Given the description of an element on the screen output the (x, y) to click on. 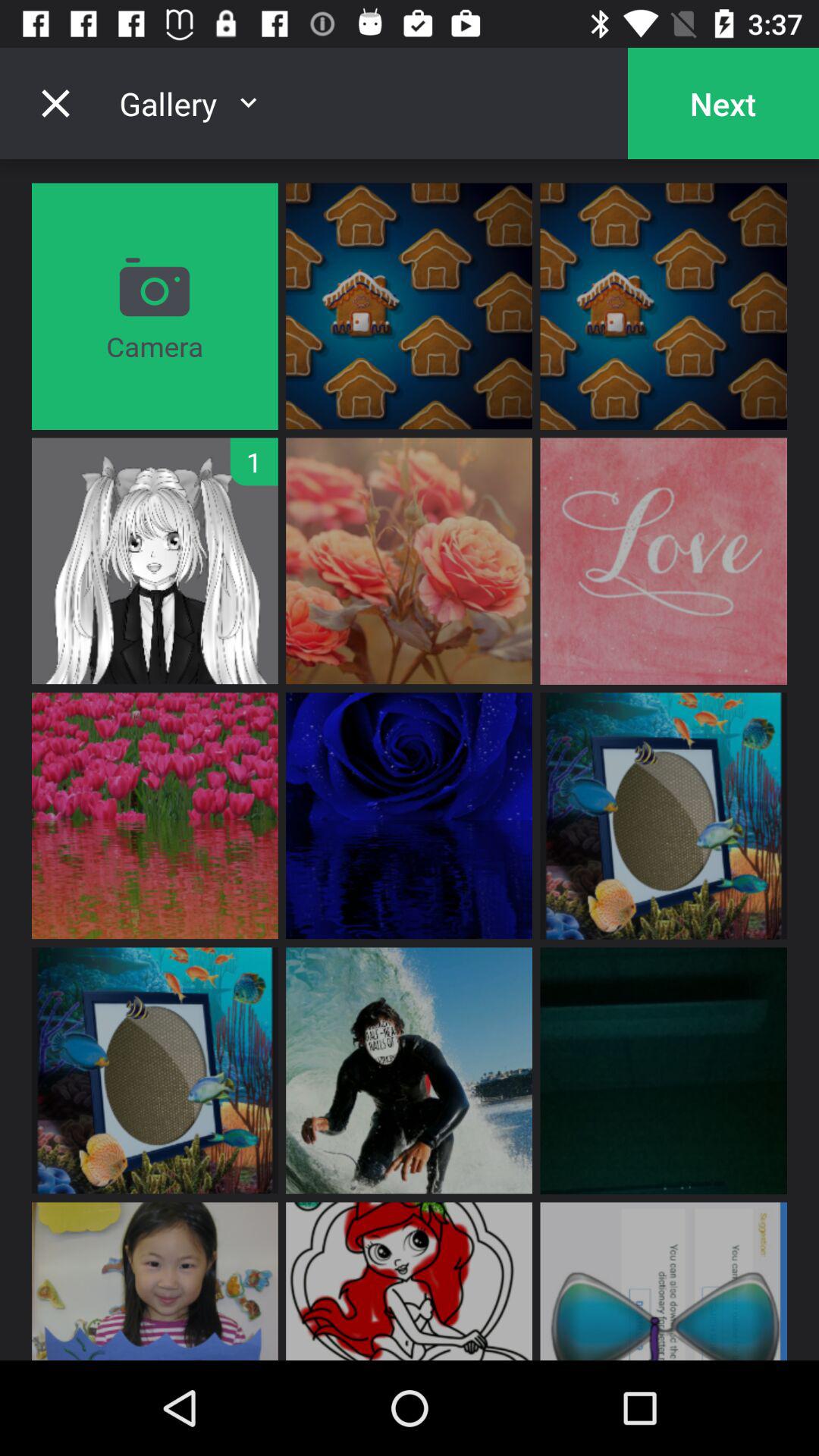
turn on icon above the camera icon (55, 103)
